Given the description of an element on the screen output the (x, y) to click on. 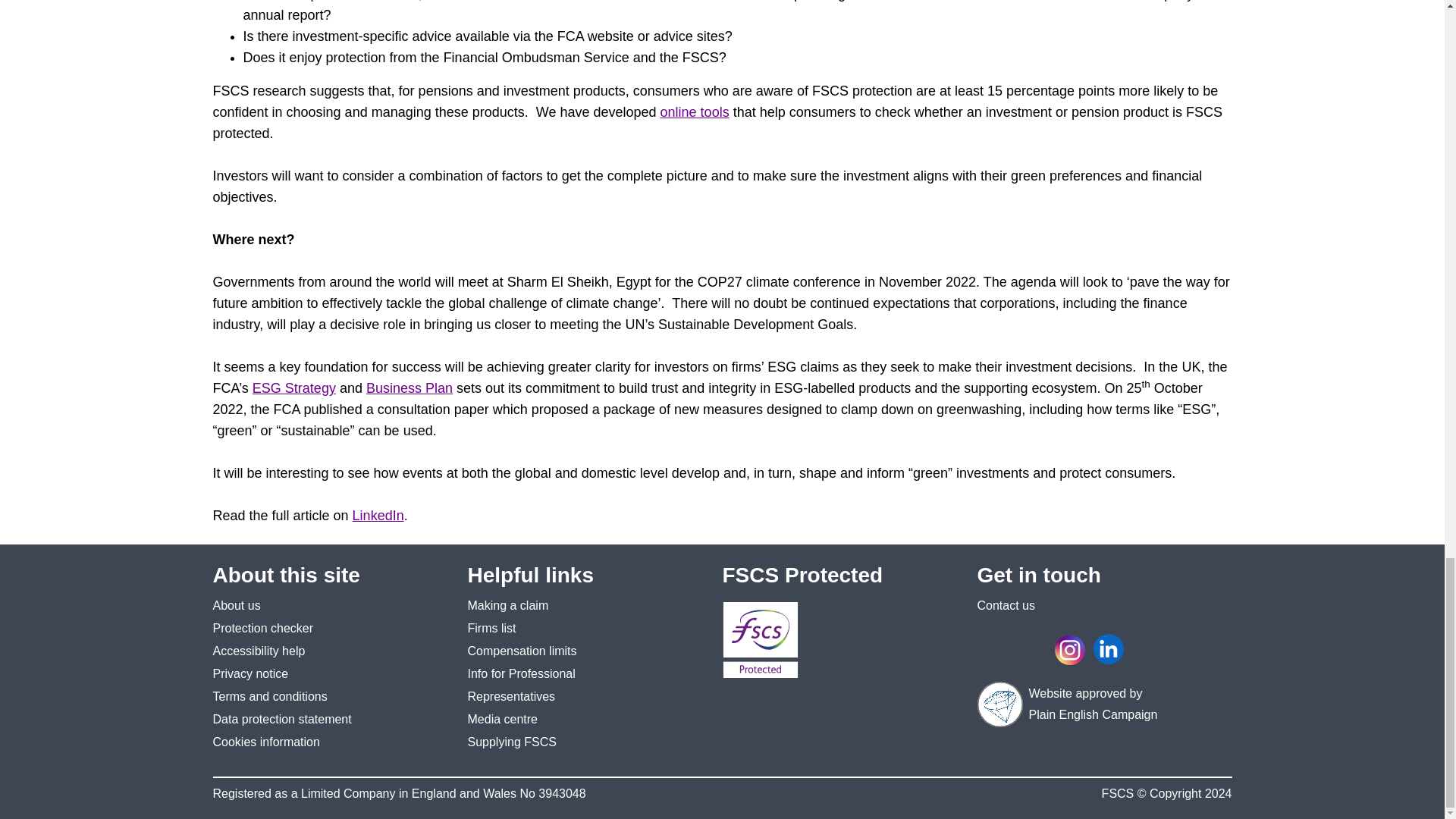
FSCS podcast news page link (1149, 648)
FSCS X social media link (1031, 648)
Link opens in the same window (502, 718)
Link opens in the same window (269, 696)
Link opens in a new windiw (507, 604)
Link opens in the same window (511, 741)
FSCS Instagram page link (1071, 649)
Link opens in the same window (250, 673)
FSCS X social media link (1033, 648)
Link opens in the same window (265, 741)
